Given the description of an element on the screen output the (x, y) to click on. 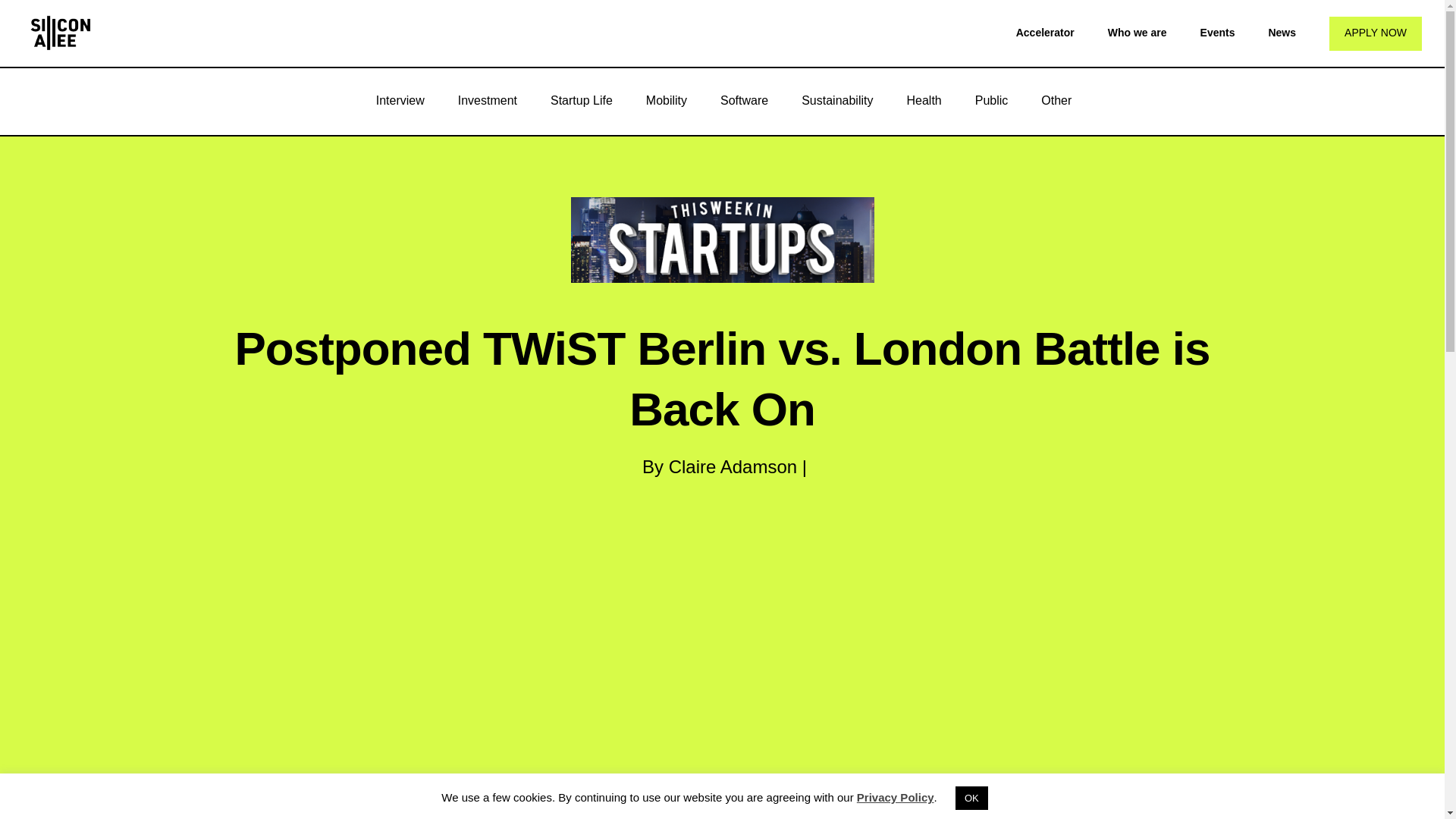
Who we are (1137, 31)
Public (991, 100)
APPLY NOW (1375, 33)
Investment (487, 100)
Interview (400, 100)
Software (743, 100)
Startup Life (581, 100)
Mobility (665, 100)
Events (1216, 31)
Other (1056, 100)
